Given the description of an element on the screen output the (x, y) to click on. 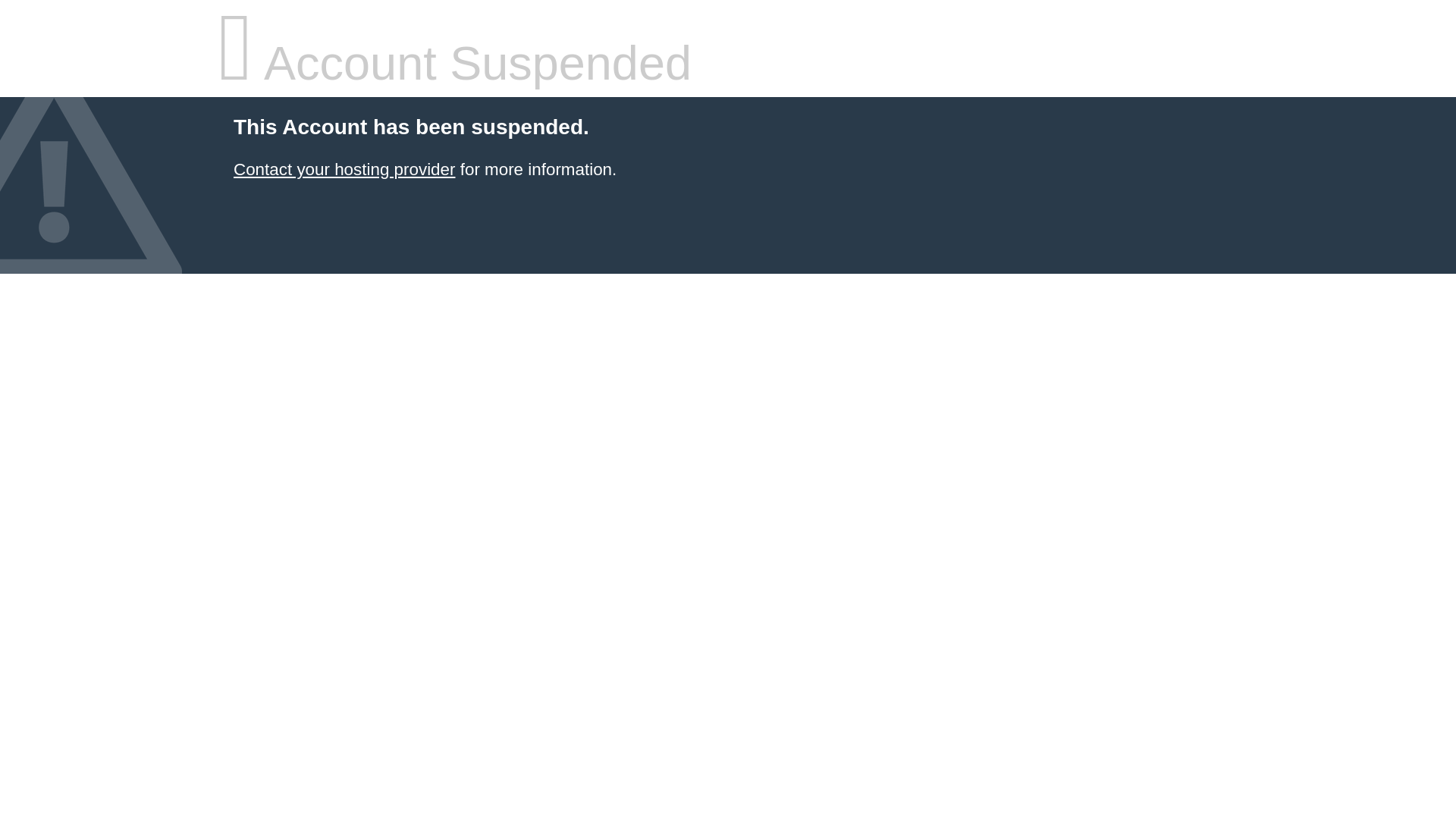
Contact your hosting provider Element type: text (344, 169)
